Given the description of an element on the screen output the (x, y) to click on. 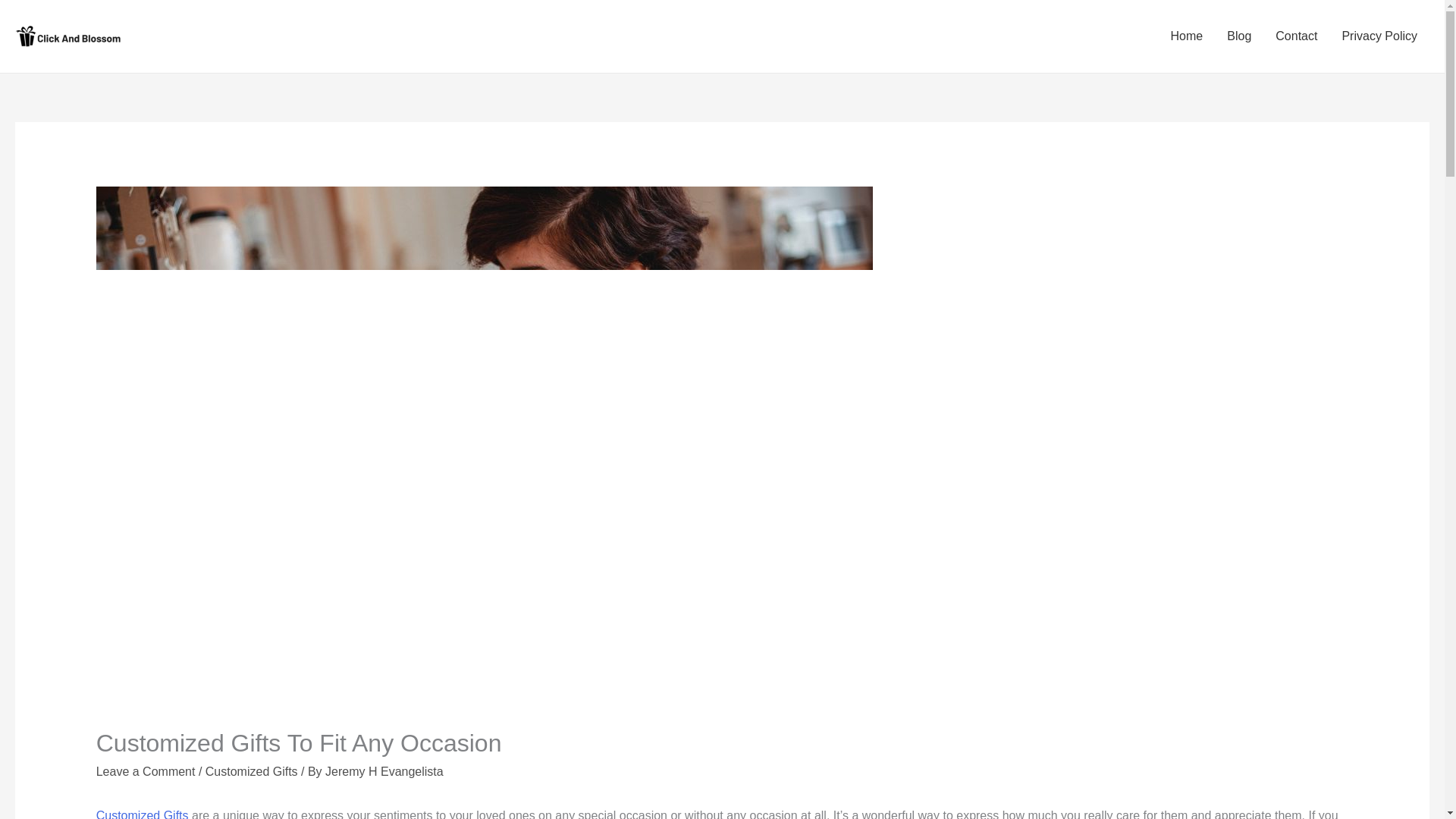
Contact (1296, 36)
Jeremy H Evangelista (384, 771)
View all posts by Jeremy H Evangelista (384, 771)
Privacy Policy (1379, 36)
Home (1186, 36)
Leave a Comment (145, 771)
Blog (1238, 36)
Customized Gifts (142, 814)
Customized Gifts (251, 771)
